Given the description of an element on the screen output the (x, y) to click on. 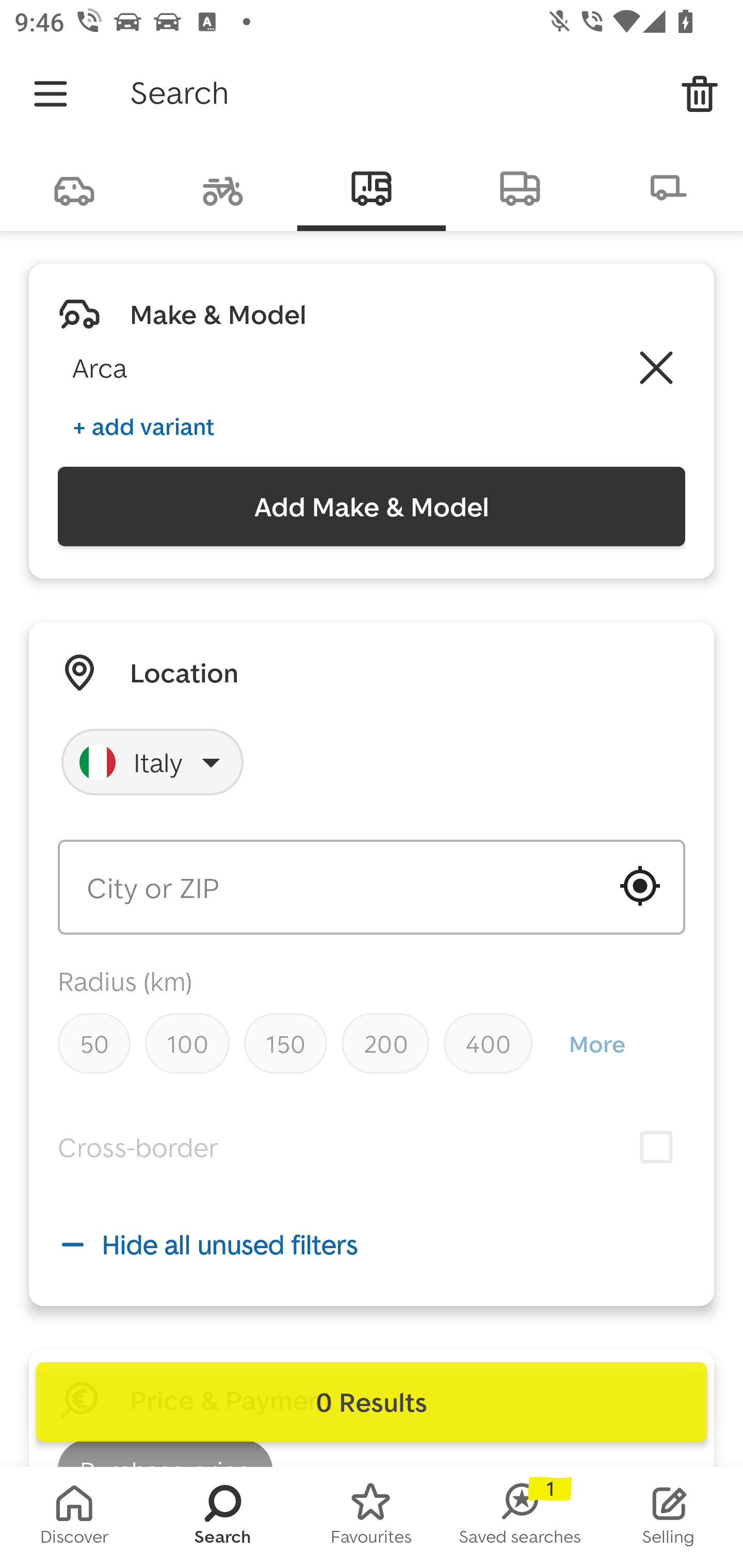
Navigate up (50, 93)
New search (699, 93)
CAR_SEARCH (74, 187)
BIKE_SEARCH (222, 187)
TRUCKS_SEARCH (519, 187)
TRAILERS_SEARCH (668, 187)
Make & Model (218, 314)
+ add variant (143, 426)
Add Make & Model (371, 506)
Location (184, 672)
Italy (152, 761)
City or ZIP (371, 887)
Radius (km) (124, 980)
50 (93, 1043)
100 (186, 1043)
150 (284, 1043)
200 (385, 1043)
400 (487, 1043)
More (596, 1043)
Hide all unused filters (371, 1244)
0 Results (371, 1401)
HOMESCREEN Discover (74, 1517)
SEARCH Search (222, 1517)
FAVORITES Favourites (371, 1517)
SAVED_SEARCHES Saved searches 1 (519, 1517)
STOCK_LIST Selling (668, 1517)
